Given the description of an element on the screen output the (x, y) to click on. 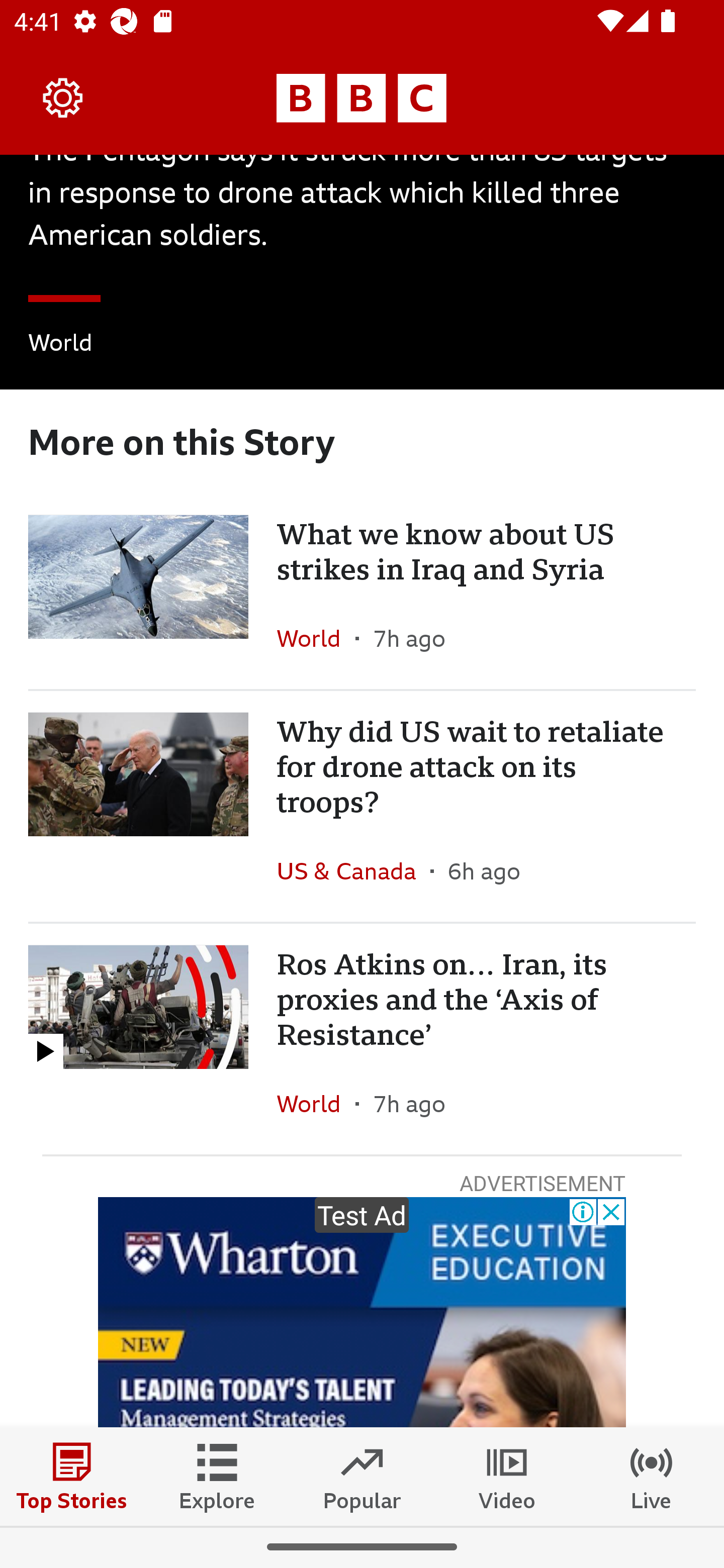
Settings (63, 97)
World In the section World (60, 345)
World In the section World (315, 638)
US & Canada In the section US & Canada (353, 870)
World In the section World (315, 1103)
Explore (216, 1475)
Popular (361, 1475)
Video (506, 1475)
Live (651, 1475)
